Given the description of an element on the screen output the (x, y) to click on. 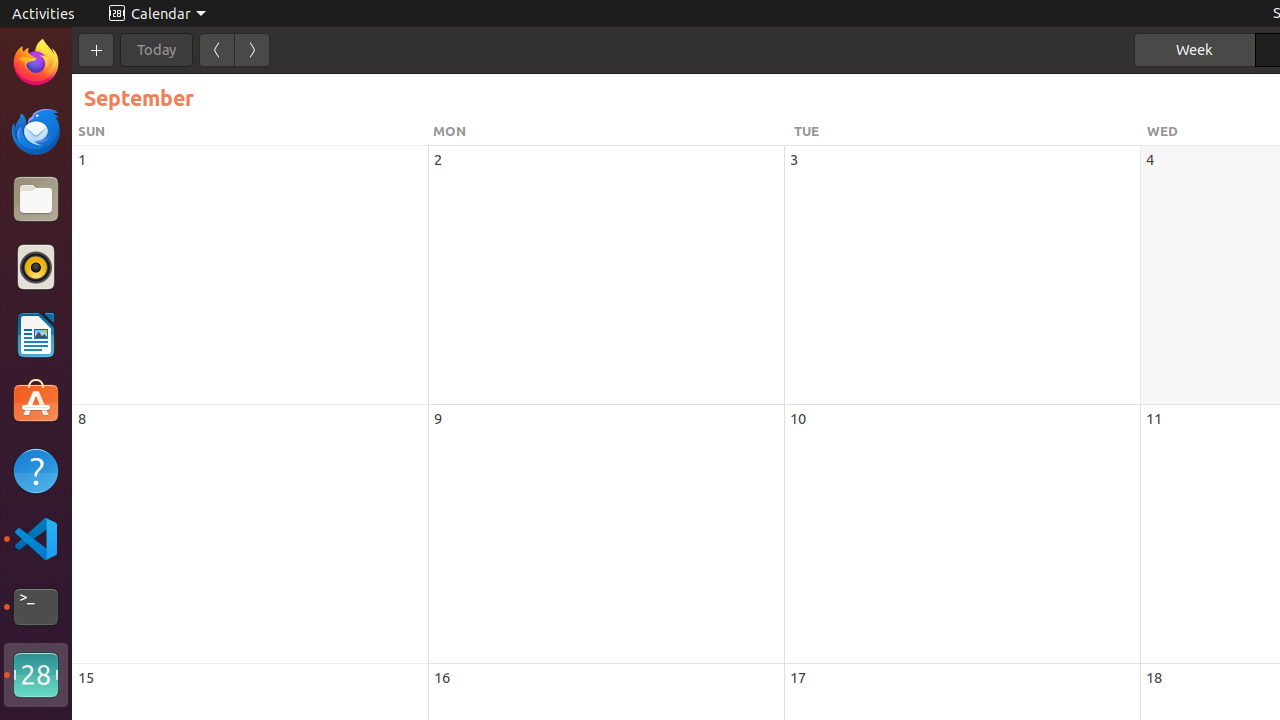
11 Element type: label (1154, 418)
Firefox Web Browser Element type: push-button (36, 63)
luyi1 Element type: label (133, 89)
